Given the description of an element on the screen output the (x, y) to click on. 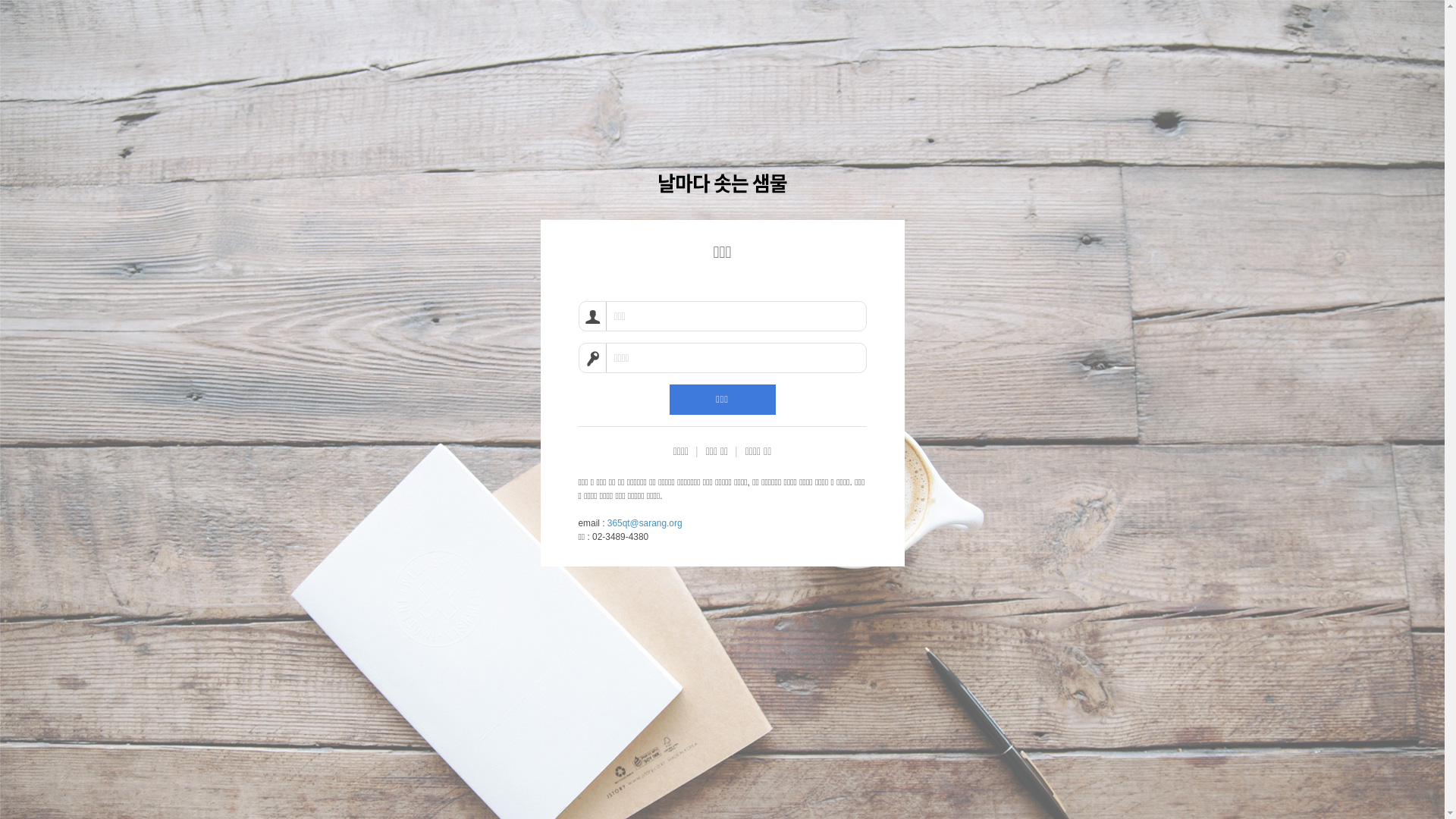
365qt@sarang.org Element type: text (644, 522)
